Given the description of an element on the screen output the (x, y) to click on. 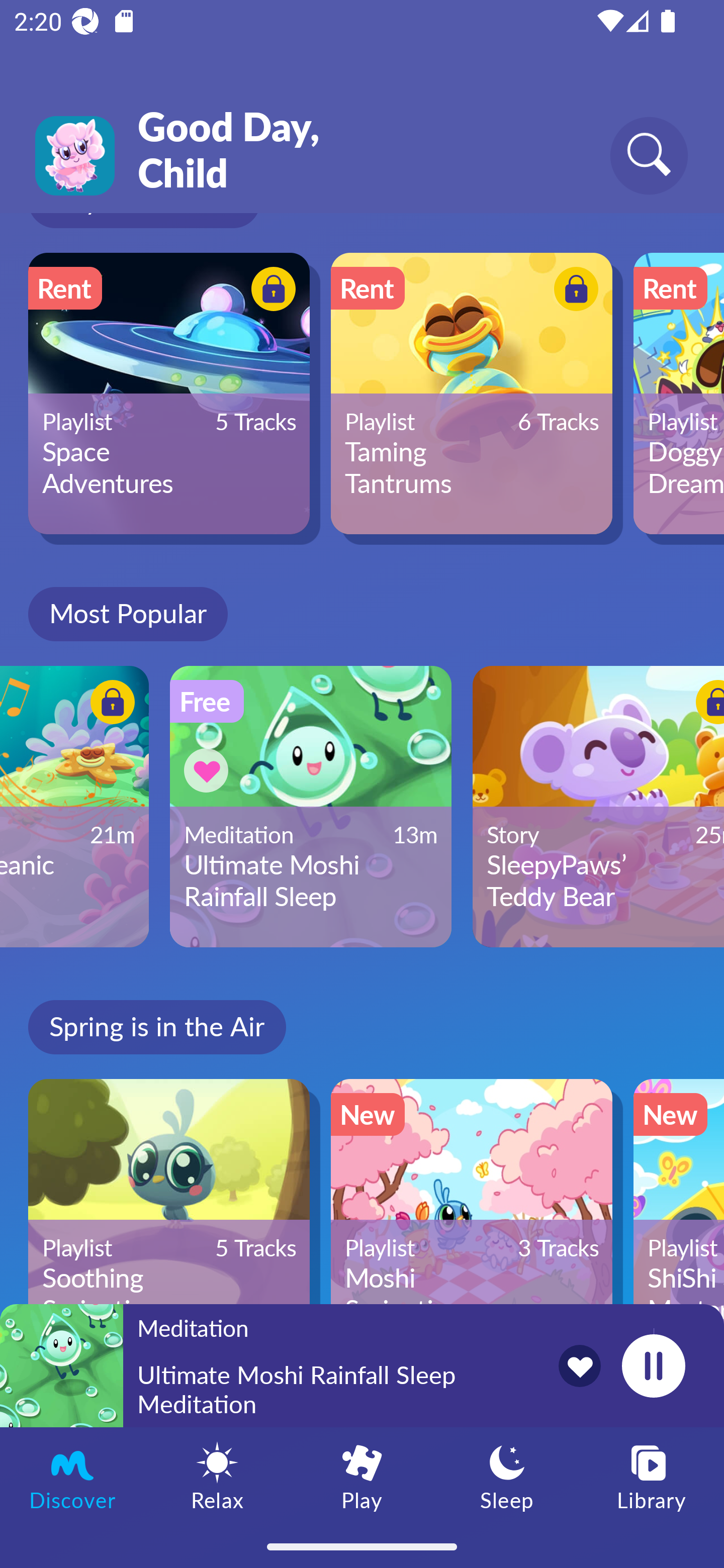
Search (648, 154)
Button (269, 291)
Button (573, 291)
Button (109, 705)
Button (699, 705)
Button (209, 769)
0.0012575 Pause (653, 1365)
Relax (216, 1475)
Play (361, 1475)
Sleep (506, 1475)
Library (651, 1475)
